Given the description of an element on the screen output the (x, y) to click on. 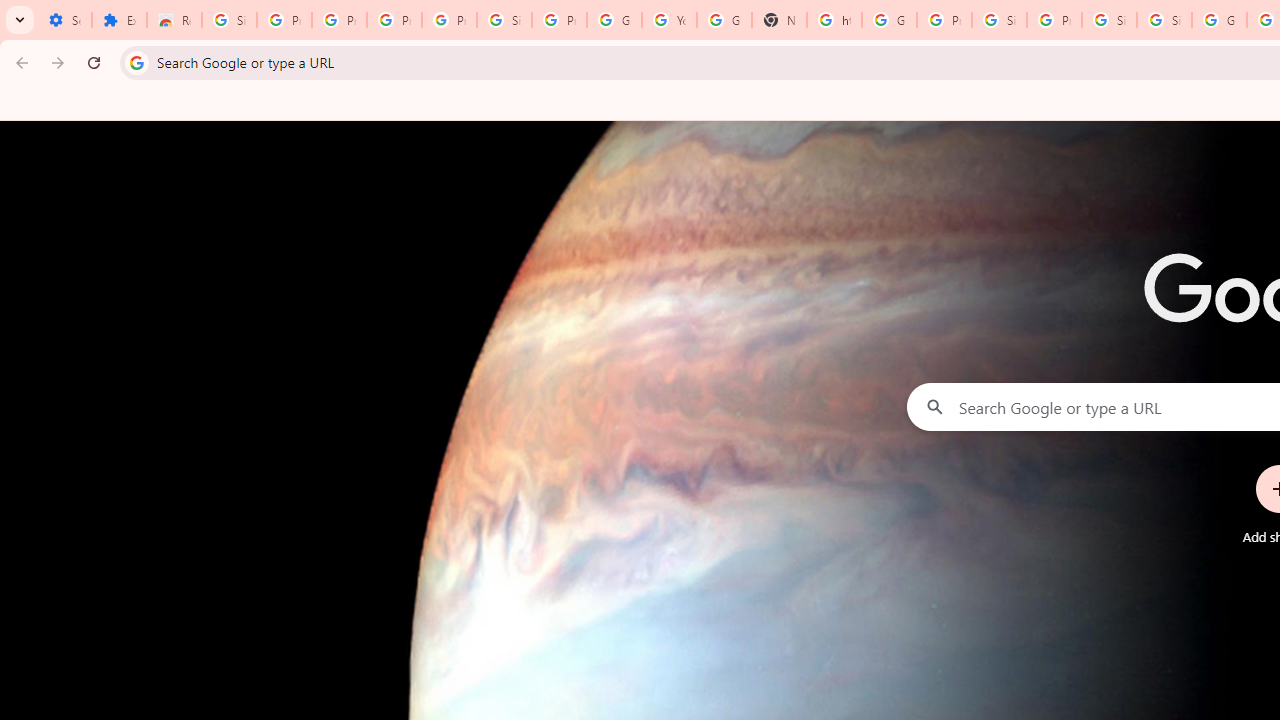
Extensions (119, 20)
Sign in - Google Accounts (998, 20)
Settings - On startup (64, 20)
Sign in - Google Accounts (229, 20)
New Tab (779, 20)
Reviews: Helix Fruit Jump Arcade Game (174, 20)
Google Account (614, 20)
https://scholar.google.com/ (833, 20)
